Given the description of an element on the screen output the (x, y) to click on. 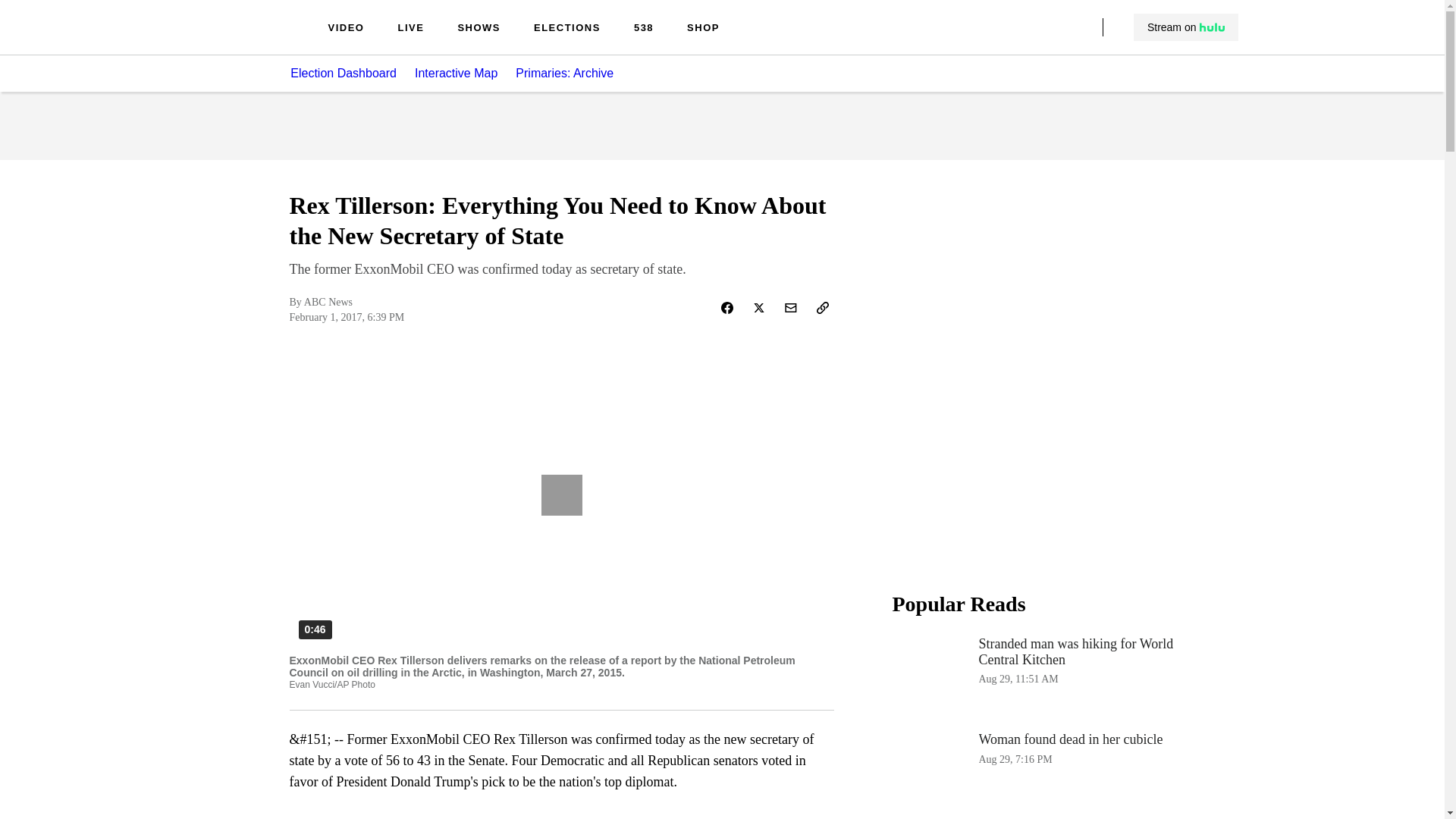
SHOP (703, 28)
ELECTIONS (566, 28)
538 (643, 28)
Stream on (1185, 27)
VIDEO (345, 28)
Primaries: Archive (573, 73)
Election Dashboard (1043, 770)
Stream on (342, 73)
